Given the description of an element on the screen output the (x, y) to click on. 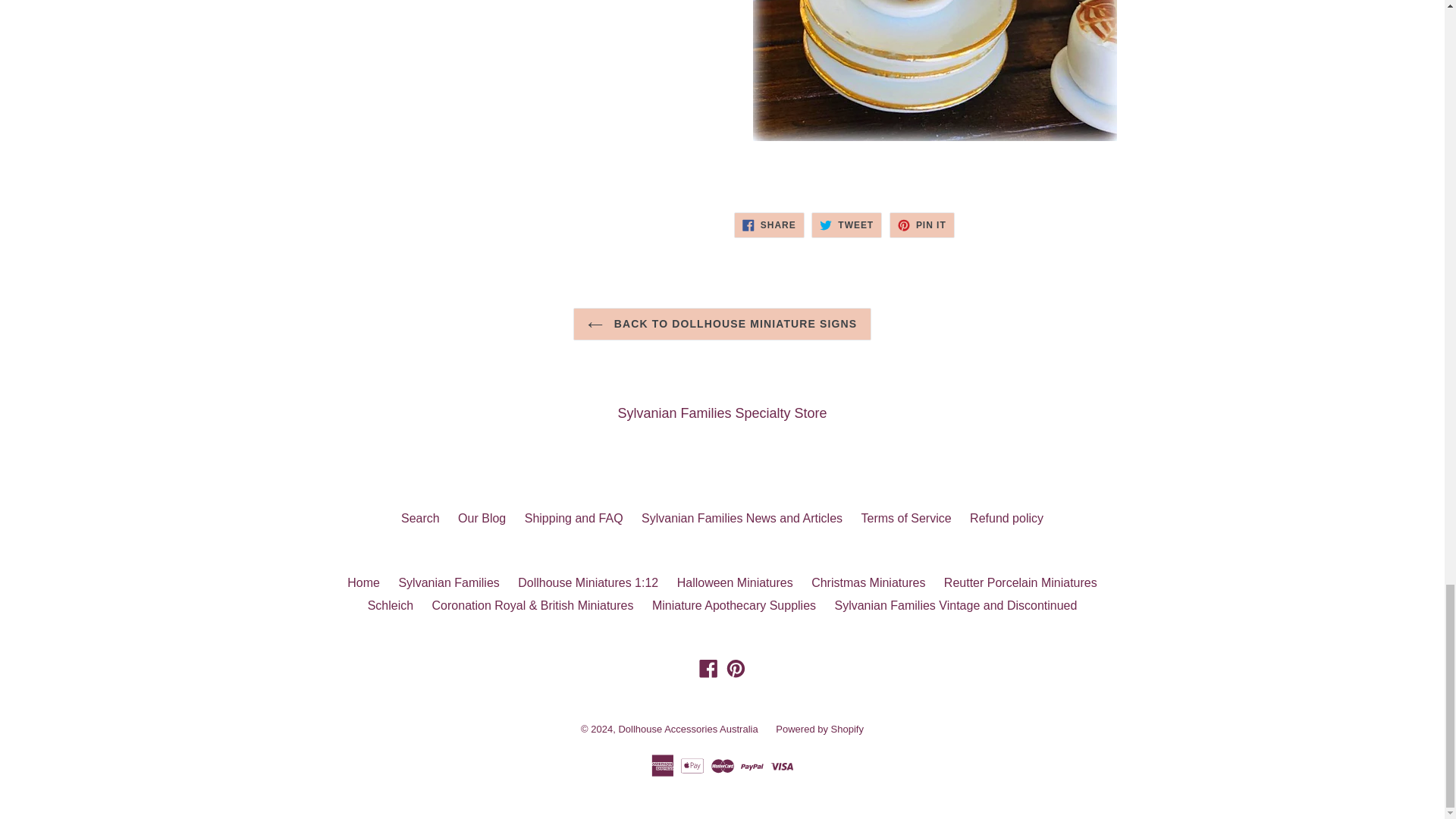
Pin on Pinterest (922, 225)
Dollhouse Accessories Australia   on Pinterest (735, 668)
Dollhouse Accessories Australia   on Facebook (708, 668)
Tweet on Twitter (846, 225)
Share on Facebook (769, 225)
